Given the description of an element on the screen output the (x, y) to click on. 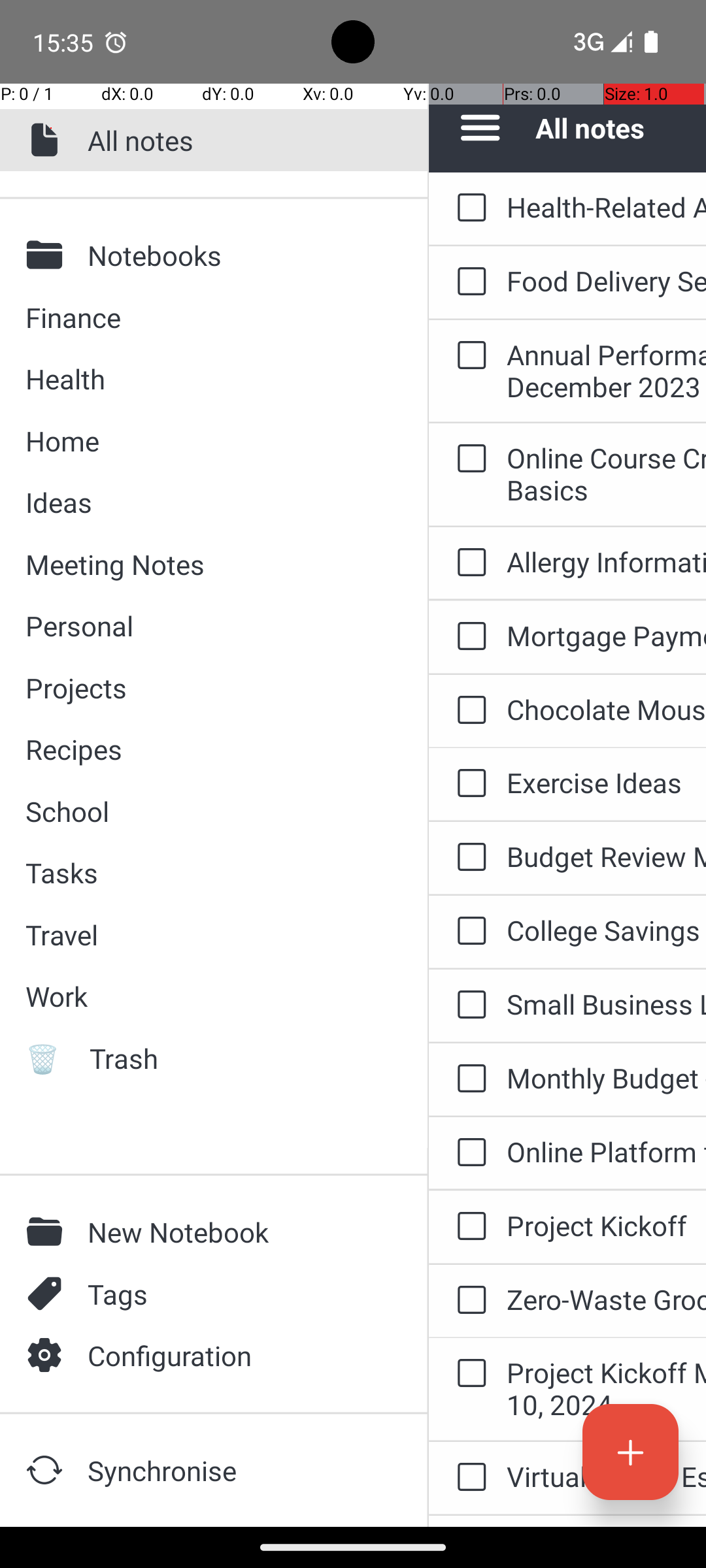
 Element type: android.widget.TextView (47, 254)
Notebooks Element type: android.widget.TextView (235, 254)
 Element type: android.widget.TextView (47, 1231)
New Notebook Element type: android.widget.TextView (235, 1231)
 Element type: android.widget.TextView (47, 1293)
 Element type: android.widget.TextView (47, 1354)
Configuration Element type: android.widget.TextView (235, 1354)
 Element type: android.widget.TextView (47, 1469)
Synchronise Element type: android.widget.TextView (235, 1469)
to-do: Health-Related Articles and Blogs Element type: android.widget.CheckBox (467, 208)
Health-Related Articles and Blogs Element type: android.widget.TextView (606, 206)
to-do: Food Delivery Service for Dietary Restrictions Element type: android.widget.CheckBox (467, 282)
Food Delivery Service for Dietary Restrictions Element type: android.widget.TextView (606, 280)
to-do: Mortgage Payment Schedule Element type: android.widget.CheckBox (467, 637)
Mortgage Payment Schedule Element type: android.widget.TextView (606, 634)
to-do: Chocolate Mousse Element type: android.widget.CheckBox (467, 710)
Chocolate Mousse Element type: android.widget.TextView (606, 708)
to-do: Exercise Ideas Element type: android.widget.CheckBox (467, 783)
to-do: College Savings Plan - 529 Account Element type: android.widget.CheckBox (467, 931)
College Savings Plan - 529 Account Element type: android.widget.TextView (606, 929)
to-do: Small Business Launch - Handmade Jewelry Element type: android.widget.CheckBox (467, 1005)
Small Business Launch - Handmade Jewelry Element type: android.widget.TextView (606, 1003)
to-do: Monthly Budget - May 2024 Element type: android.widget.CheckBox (467, 1079)
Monthly Budget - May 2024 Element type: android.widget.TextView (606, 1077)
to-do: Online Platform for Local Artisans Element type: android.widget.CheckBox (467, 1153)
Online Platform for Local Artisans Element type: android.widget.TextView (606, 1151)
to-do: Project Kickoff Element type: android.widget.CheckBox (467, 1227)
Project Kickoff Element type: android.widget.TextView (606, 1224)
to-do: Zero-Waste Grocery Store Element type: android.widget.CheckBox (467, 1300)
Zero-Waste Grocery Store Element type: android.widget.TextView (606, 1298)
to-do: Project Kickoff Meeting - Website Redesign - April 10, 2024 Element type: android.widget.CheckBox (467, 1373)
Project Kickoff Meeting - Website Redesign - April 10, 2024 Element type: android.widget.TextView (606, 1387)
to-do: Virtual Reality Escape Room Element type: android.widget.CheckBox (467, 1477)
Virtual Reality Escape Room Element type: android.widget.TextView (606, 1475)
🗑️ Element type: android.widget.TextView (48, 1057)
